Given the description of an element on the screen output the (x, y) to click on. 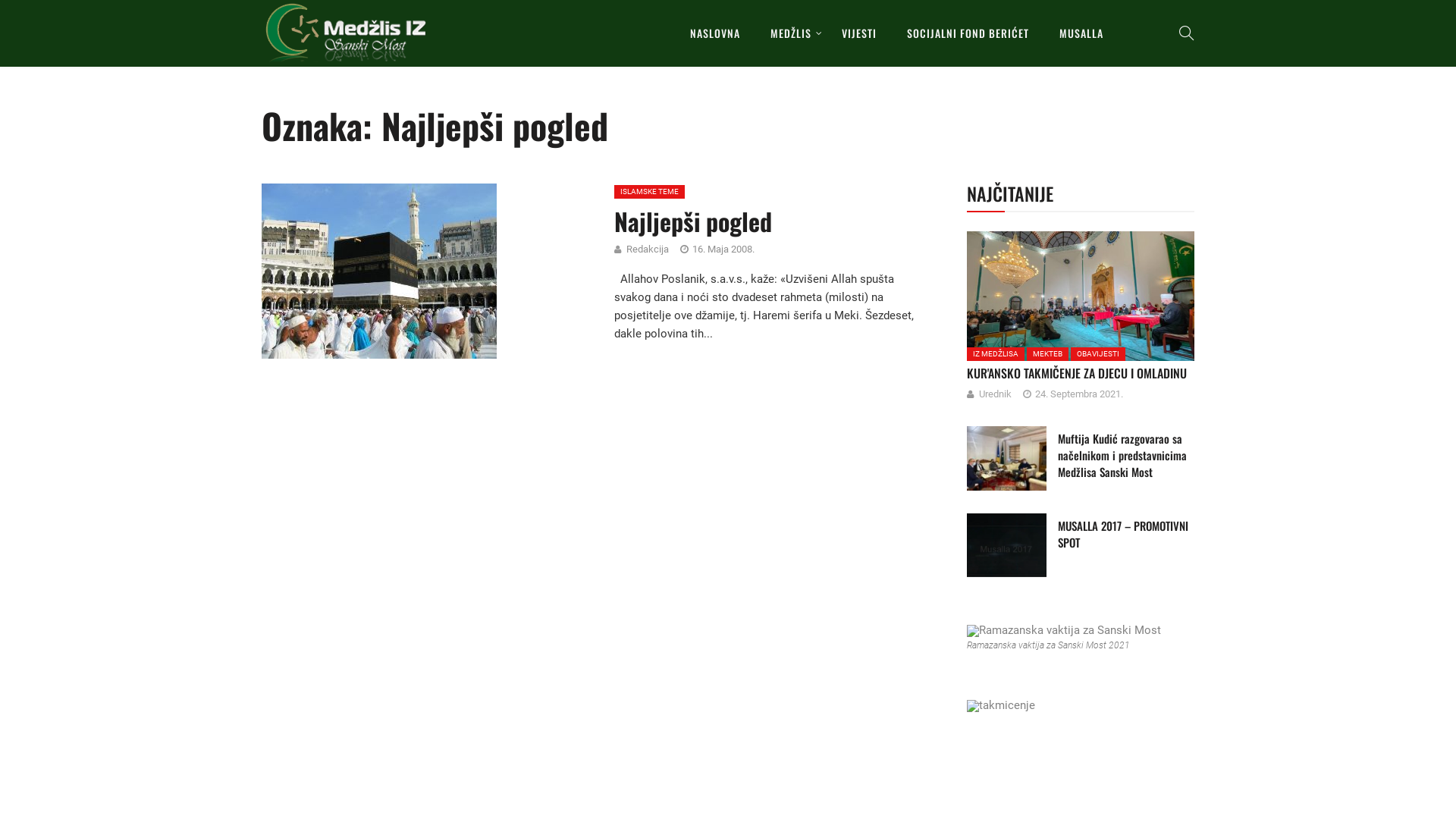
Urednik Element type: text (1000, 393)
16. Maja 2008. Element type: text (723, 248)
MUSALLA Element type: text (1081, 33)
OBAVIJESTI Element type: text (1097, 353)
MEKTEB Element type: text (1047, 353)
VIJESTI Element type: text (858, 33)
24. Septembra 2021. Element type: text (1079, 393)
Redakcija Element type: text (653, 248)
NASLOVNA Element type: text (714, 33)
ISLAMSKE TEME Element type: text (649, 191)
